Given the description of an element on the screen output the (x, y) to click on. 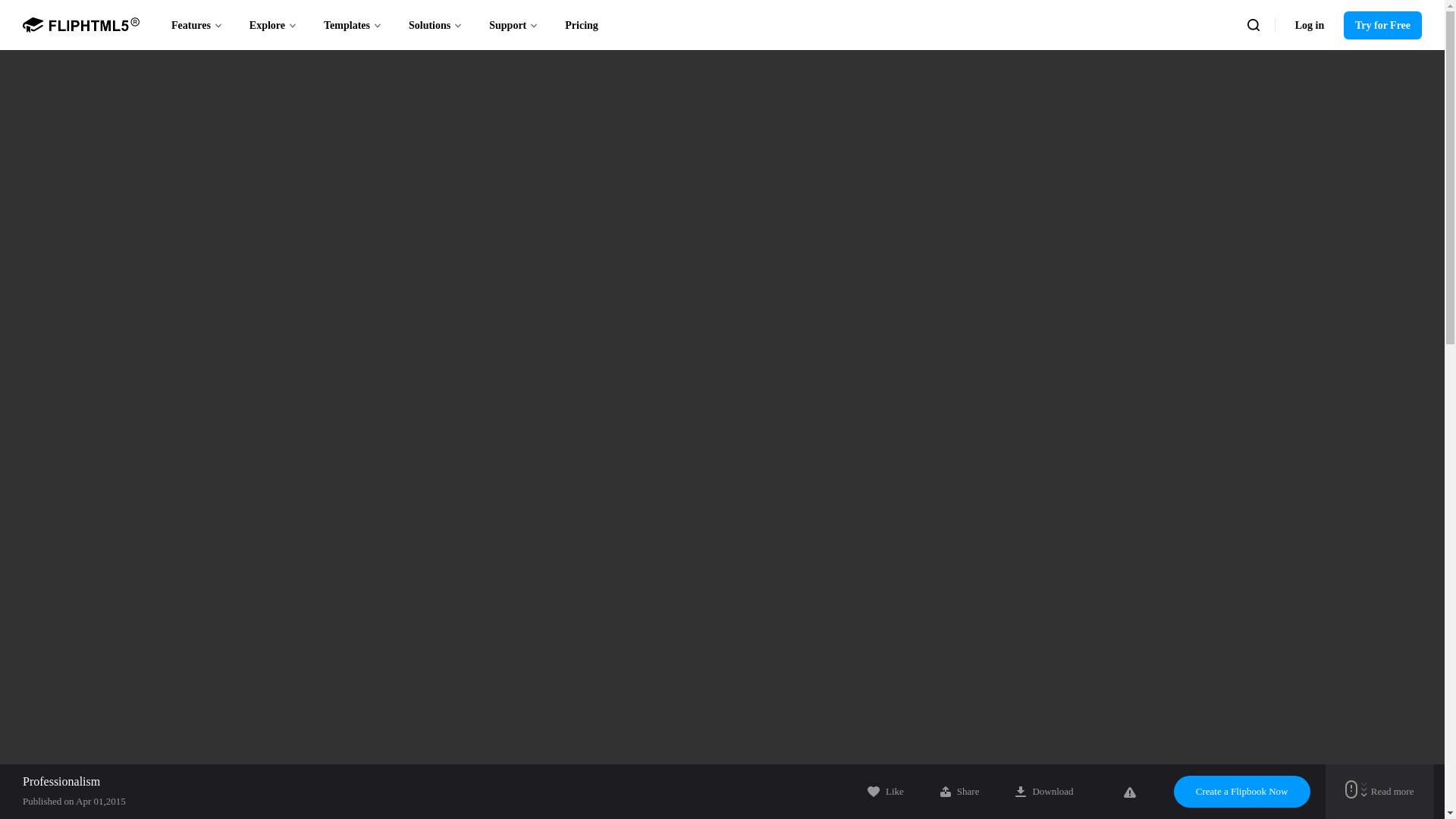
Explore (272, 24)
Add to My Favorites (885, 791)
The publisher doesn't allow readers to download this book. (1043, 791)
Features (196, 24)
